Given the description of an element on the screen output the (x, y) to click on. 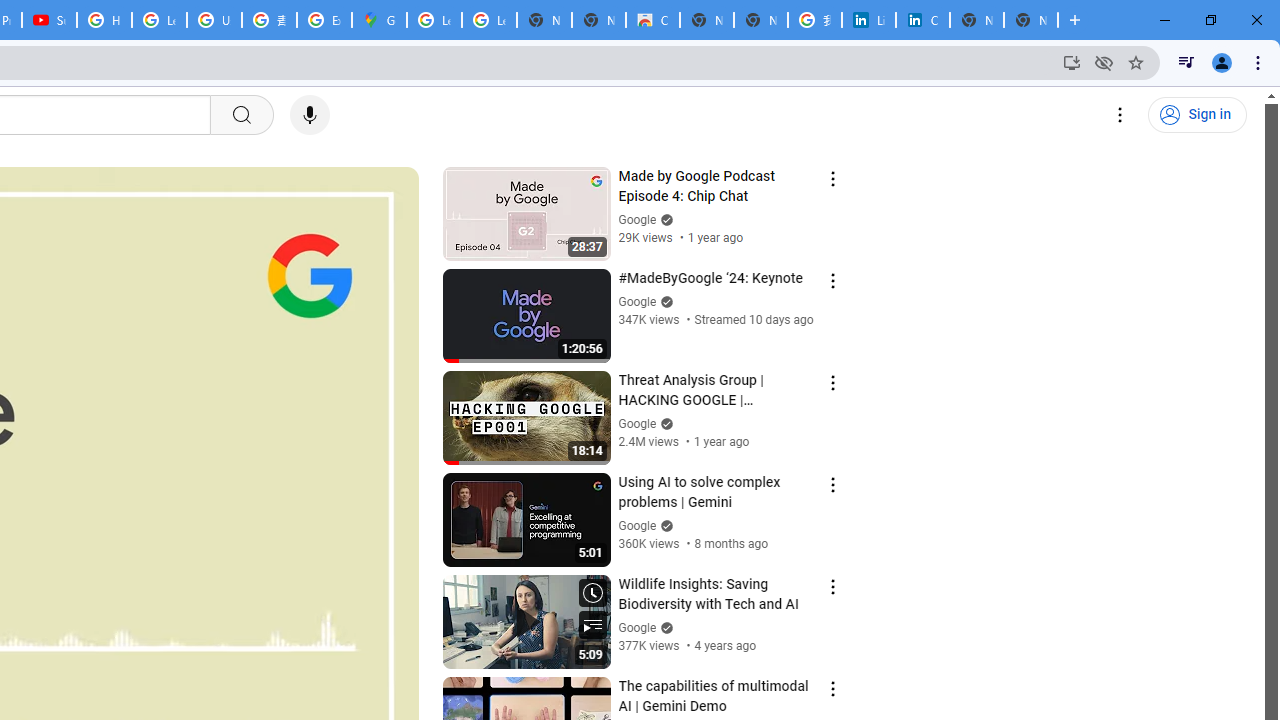
How Chrome protects your passwords - Google Chrome Help (103, 20)
Install YouTube (1071, 62)
Search with your voice (309, 115)
